Given the description of an element on the screen output the (x, y) to click on. 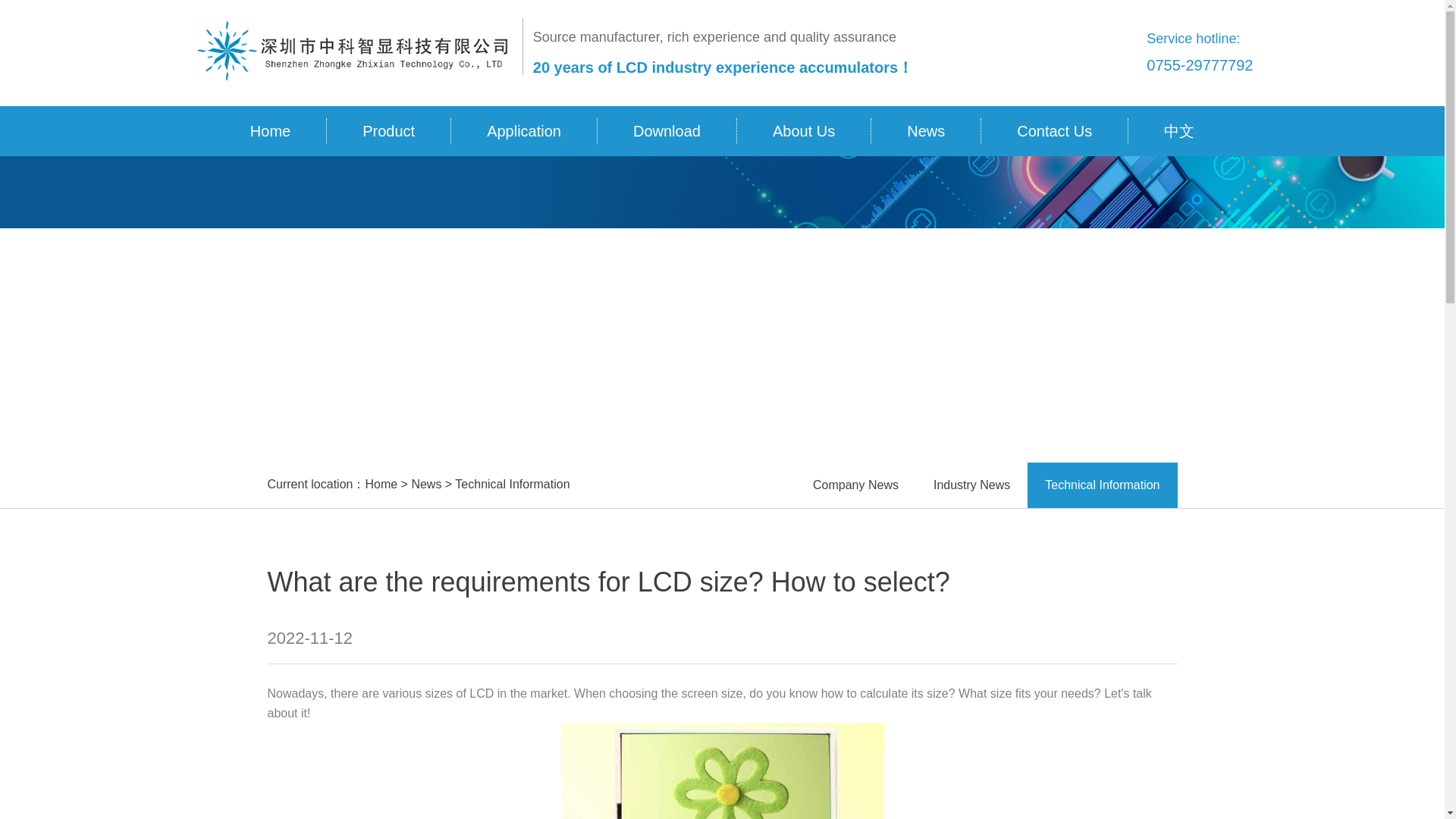
Product (388, 130)
Home (270, 130)
News (425, 483)
Download (666, 130)
Application (523, 130)
Company News (855, 484)
News (925, 130)
Industry News (971, 484)
Home (381, 483)
Company News (855, 484)
